Given the description of an element on the screen output the (x, y) to click on. 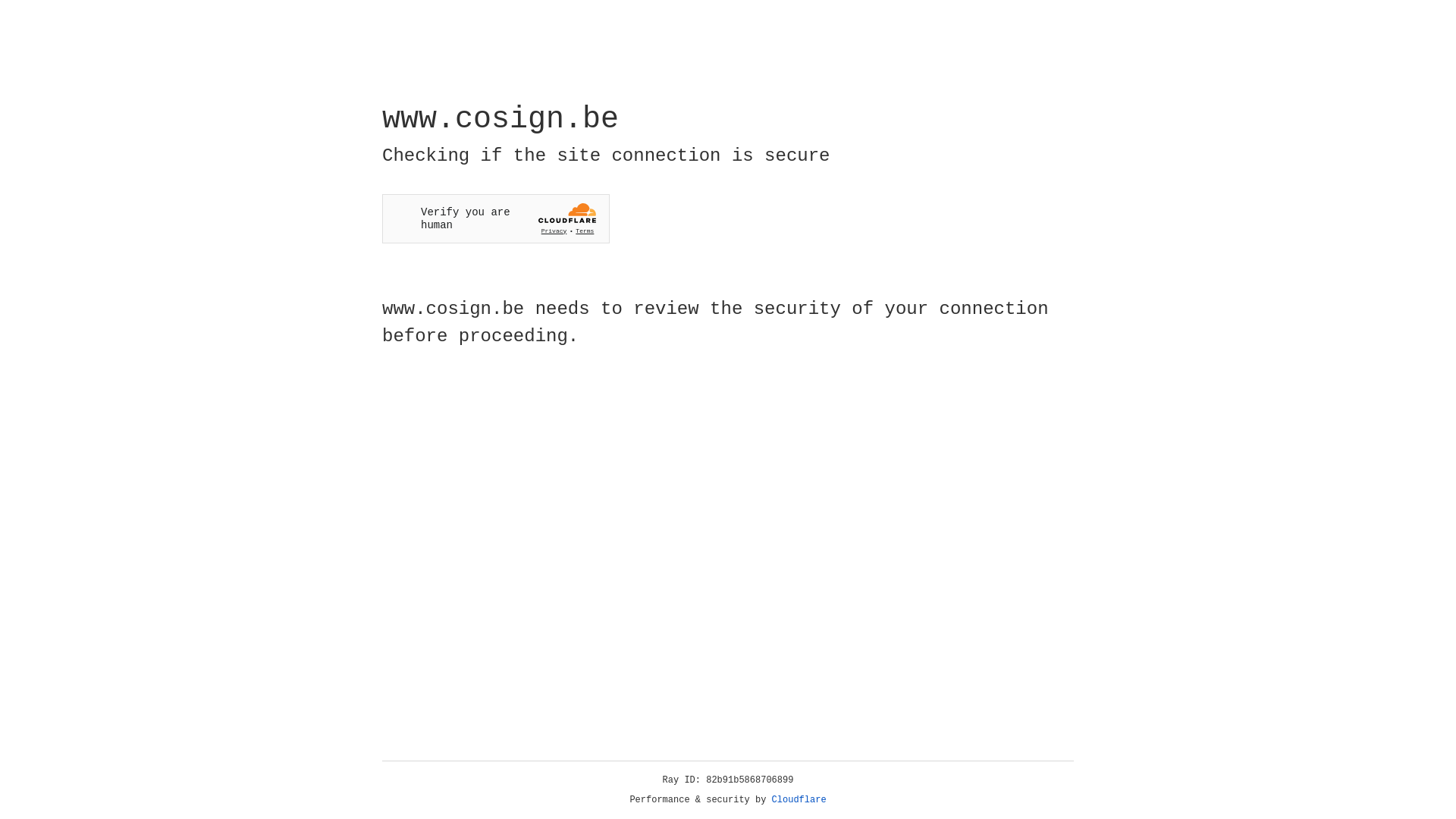
Cloudflare Element type: text (798, 799)
Widget containing a Cloudflare security challenge Element type: hover (495, 218)
